Given the description of an element on the screen output the (x, y) to click on. 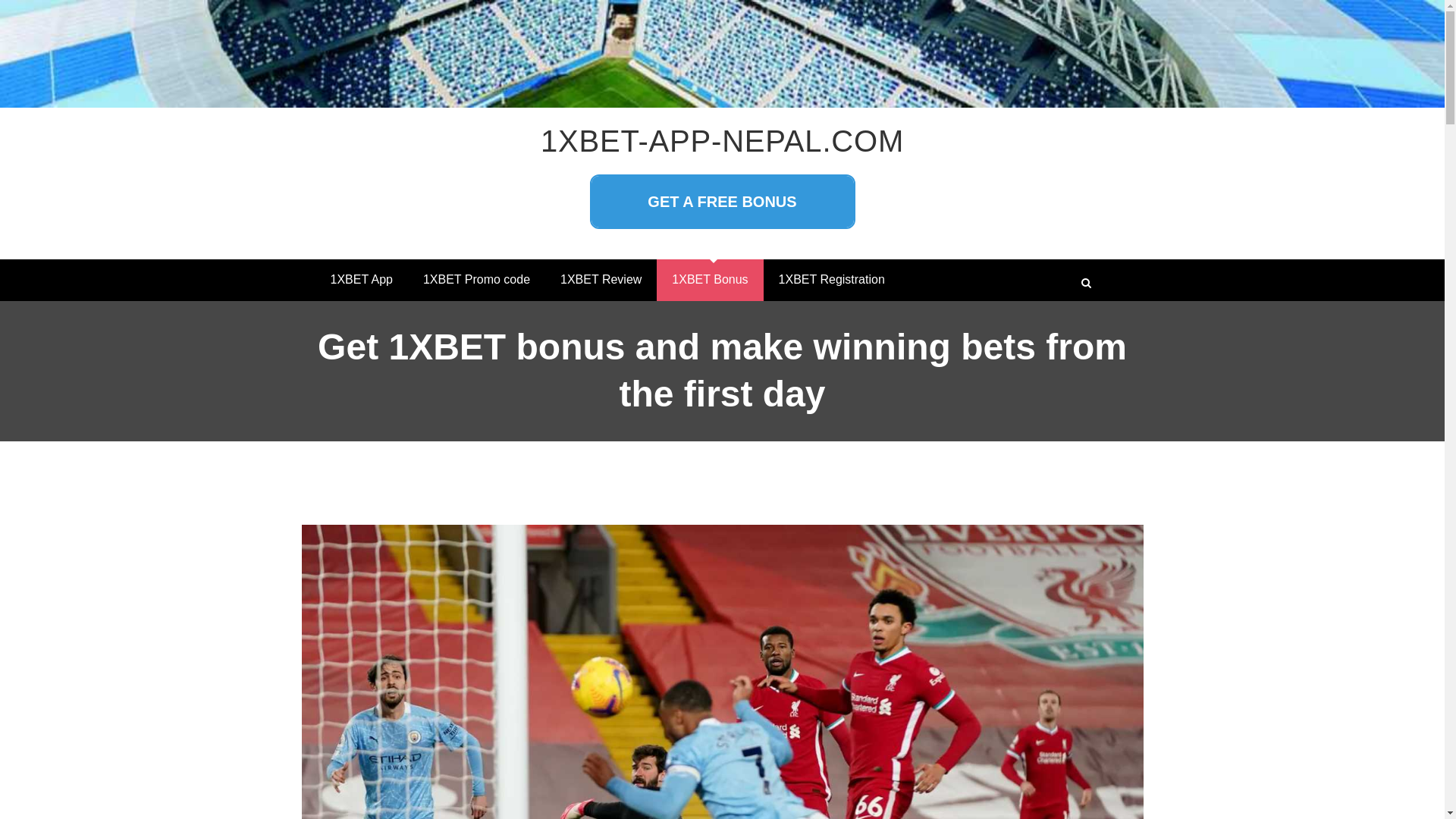
1XBET Promo code Element type: text (476, 280)
1XBET-APP-NEPAL.COM Element type: text (721, 140)
1XBET Bonus Element type: text (709, 280)
1XBET Registration Element type: text (831, 280)
1XBET App Element type: text (361, 280)
1XBET Review Element type: text (600, 280)
Search Element type: hover (1087, 282)
Skip to content Element type: text (0, 0)
GET A FREE BONUS Element type: text (722, 201)
